Given the description of an element on the screen output the (x, y) to click on. 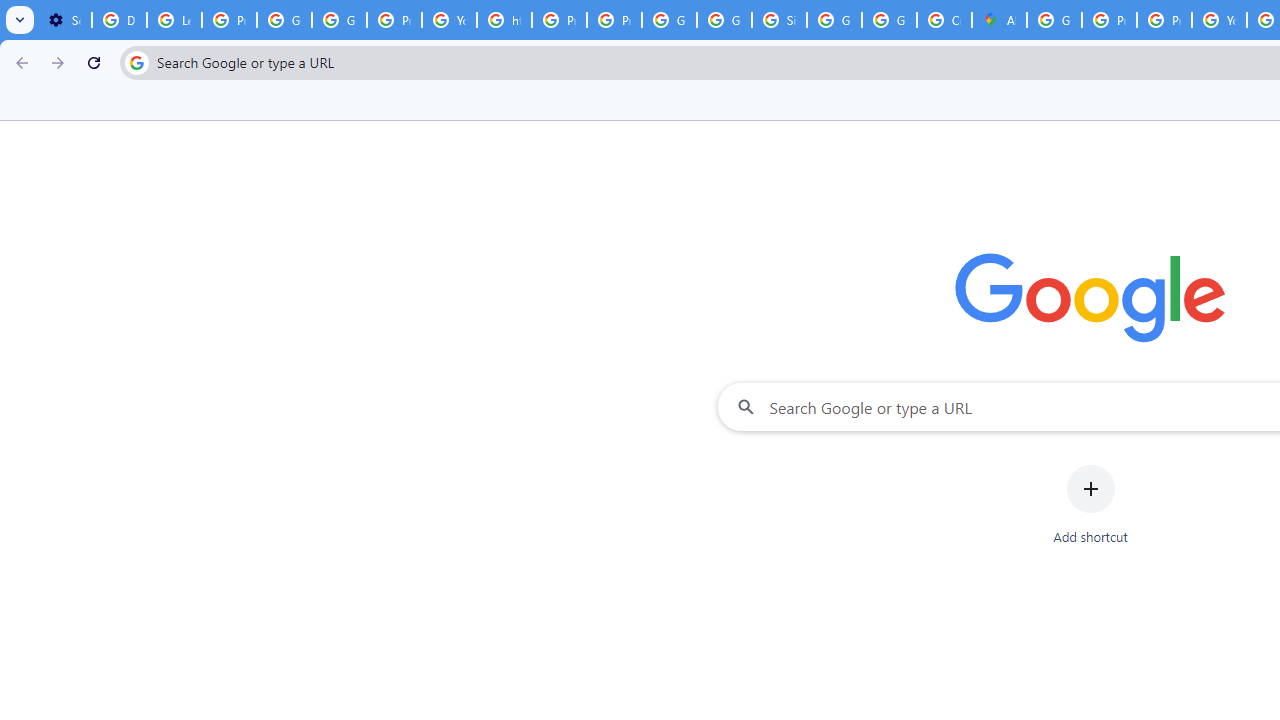
Settings - Performance (64, 20)
Privacy Help Center - Policies Help (1163, 20)
Create your Google Account (943, 20)
